Given the description of an element on the screen output the (x, y) to click on. 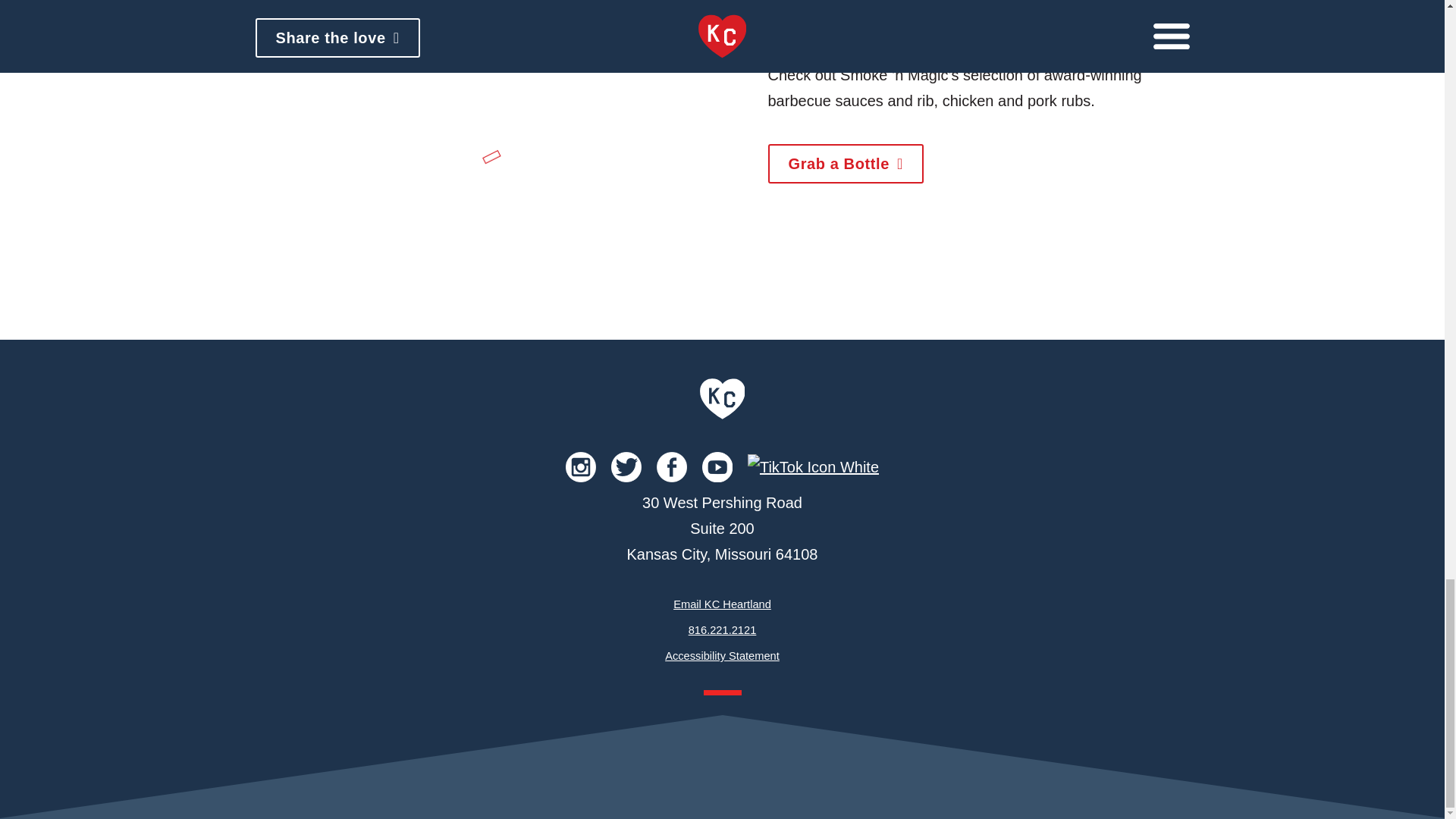
816.221.2121 (722, 630)
Email KC Heartland (721, 604)
Accessibility Statement (721, 655)
Home (722, 416)
KC.org (722, 398)
KC.org (722, 416)
Grab a Bottle (845, 163)
Accessibility Statement (721, 655)
